Given the description of an element on the screen output the (x, y) to click on. 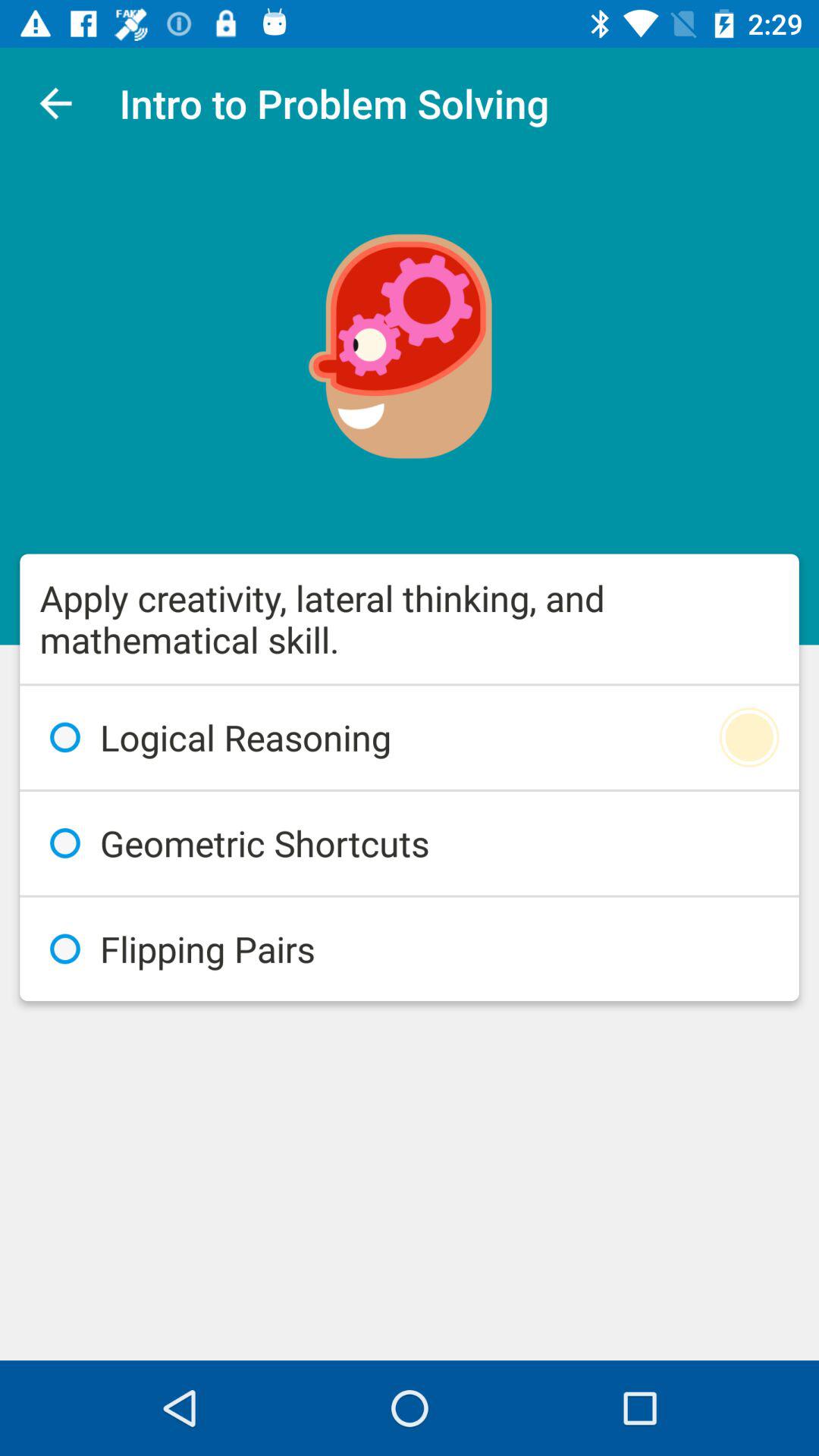
open flipping pairs item (409, 949)
